Given the description of an element on the screen output the (x, y) to click on. 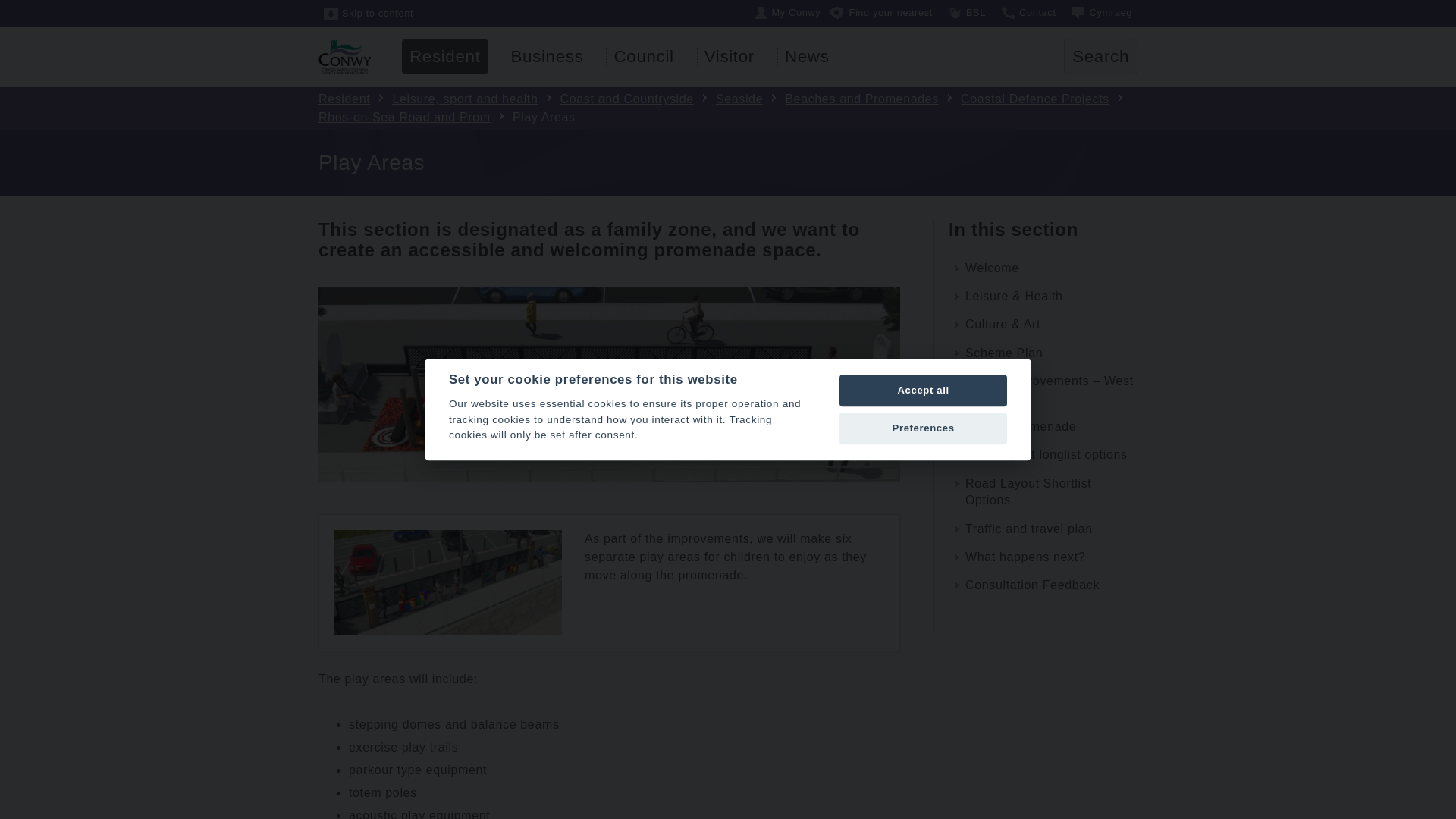
Welcome (1043, 268)
Coastal Defence Projects (1025, 98)
Road layout longlist options (1043, 454)
Skip to content (368, 13)
Contact (1028, 11)
Consultation Feedback (1043, 585)
Go to Coast and Countryside from here (617, 98)
Leisure, sport and health (455, 98)
Go to Rhos-on-Sea Road and Prom from here (724, 107)
Go to News from here (807, 56)
Cymraeg (1101, 11)
Cayley Promenade (1043, 426)
Coast and Countryside (617, 98)
What happens next? (1043, 557)
Rhos-on-Sea Road and Prom (724, 107)
